Given the description of an element on the screen output the (x, y) to click on. 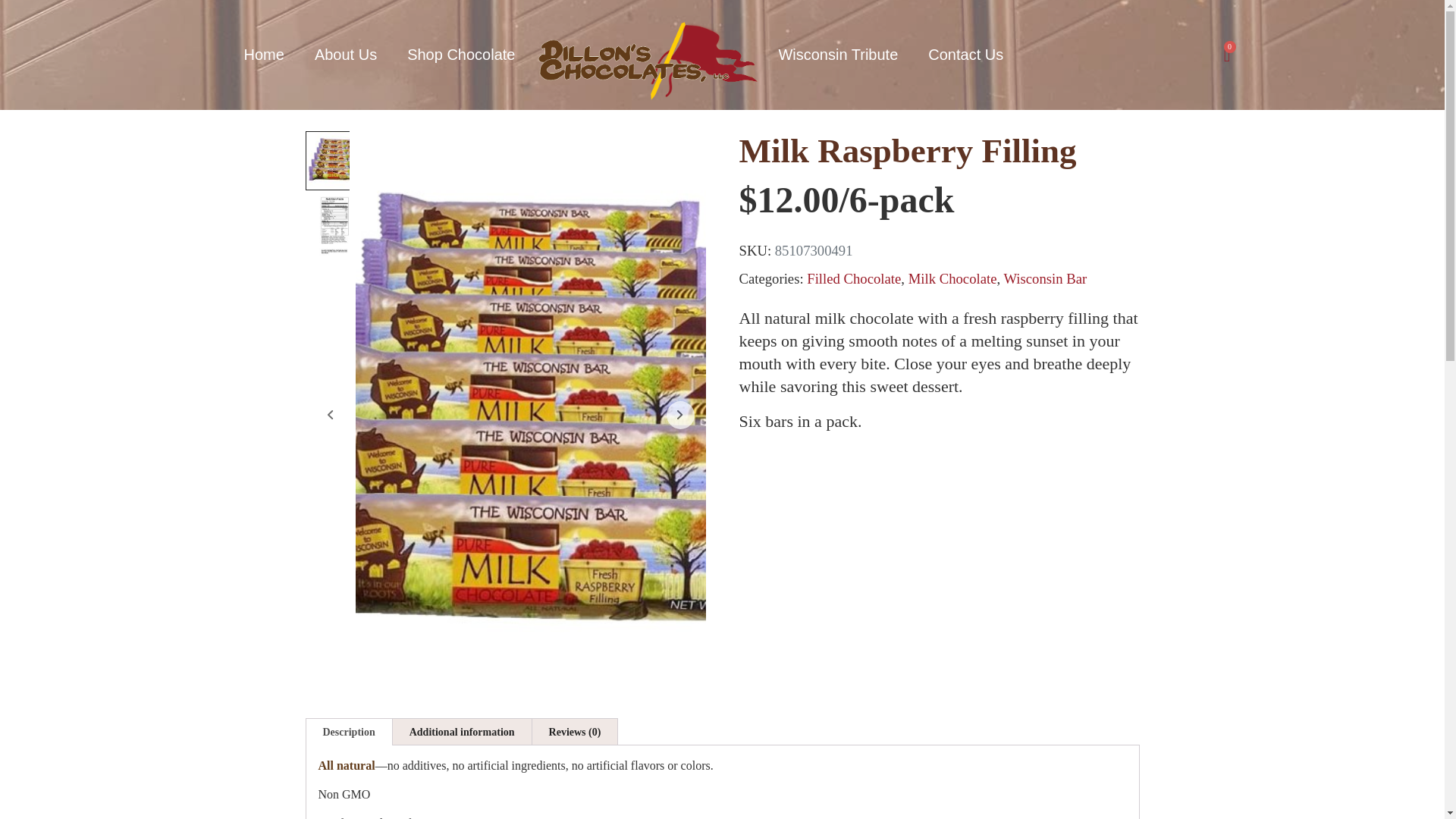
Contact Us (964, 54)
Wisconsin Tribute (837, 54)
0 (1227, 54)
Home (263, 54)
Shop Chocolate (460, 54)
About Us (345, 54)
